Given the description of an element on the screen output the (x, y) to click on. 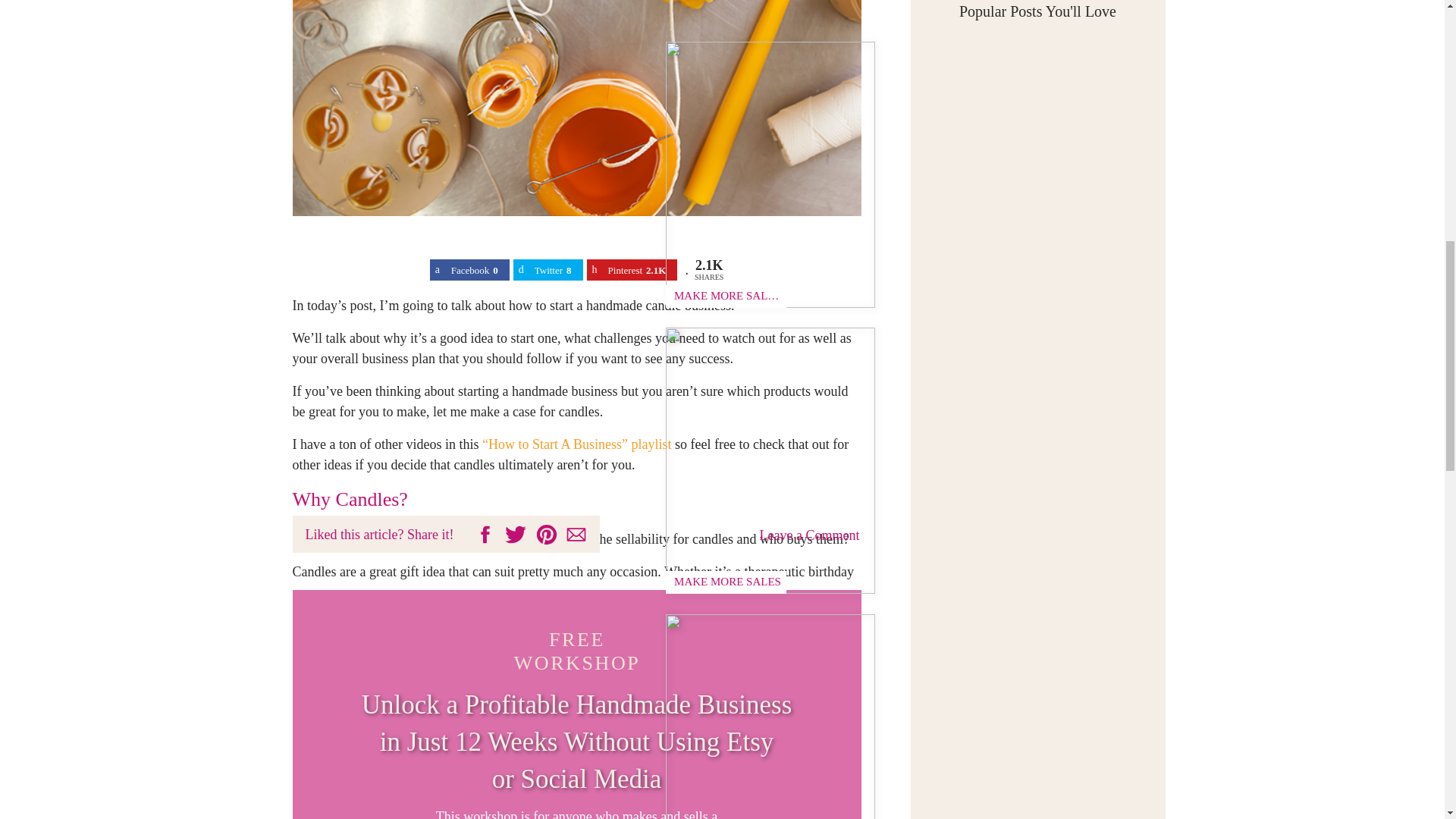
Facebook0 (469, 269)
Pinterest2.1K (632, 269)
Share on Pinterest (632, 269)
Twitter8 (548, 269)
Share on Twitter (548, 269)
Share on Facebook (469, 269)
